Given the description of an element on the screen output the (x, y) to click on. 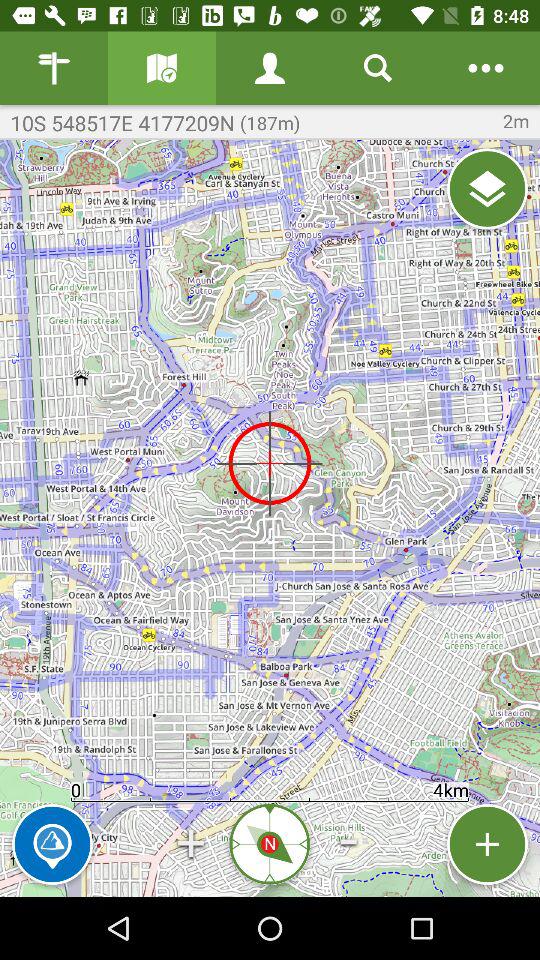
search (378, 68)
